Given the description of an element on the screen output the (x, y) to click on. 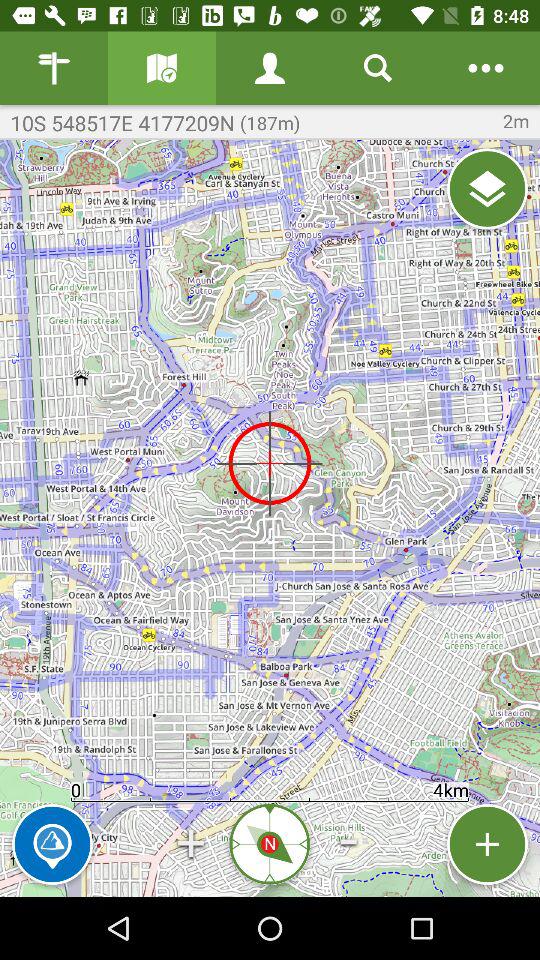
search (378, 68)
